Given the description of an element on the screen output the (x, y) to click on. 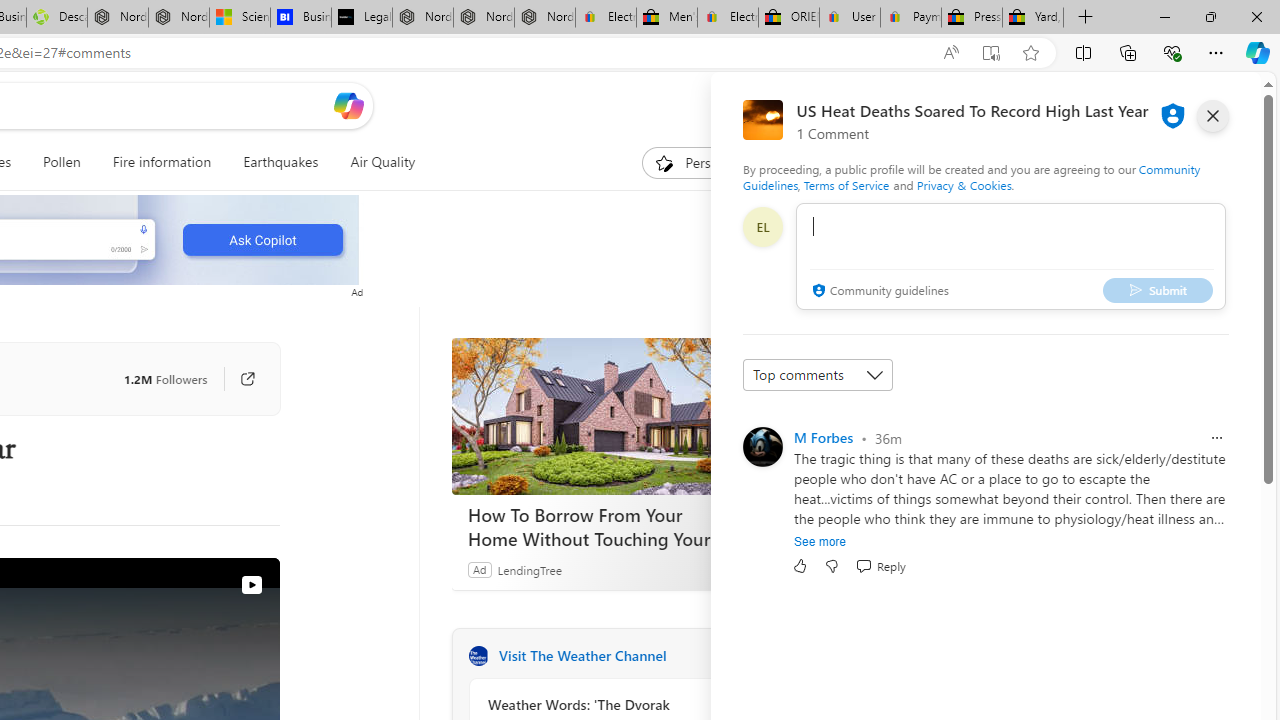
Fire information (162, 162)
Dislike (831, 565)
Enhance video (950, 53)
Pollen (61, 162)
Community Guidelines (971, 176)
Browser essentials (1171, 52)
Earthquakes (280, 162)
Like (799, 565)
Add this page to favorites (Ctrl+D) (1030, 53)
Collections (1128, 52)
M Forbes (823, 437)
Open Copilot (347, 105)
